Given the description of an element on the screen output the (x, y) to click on. 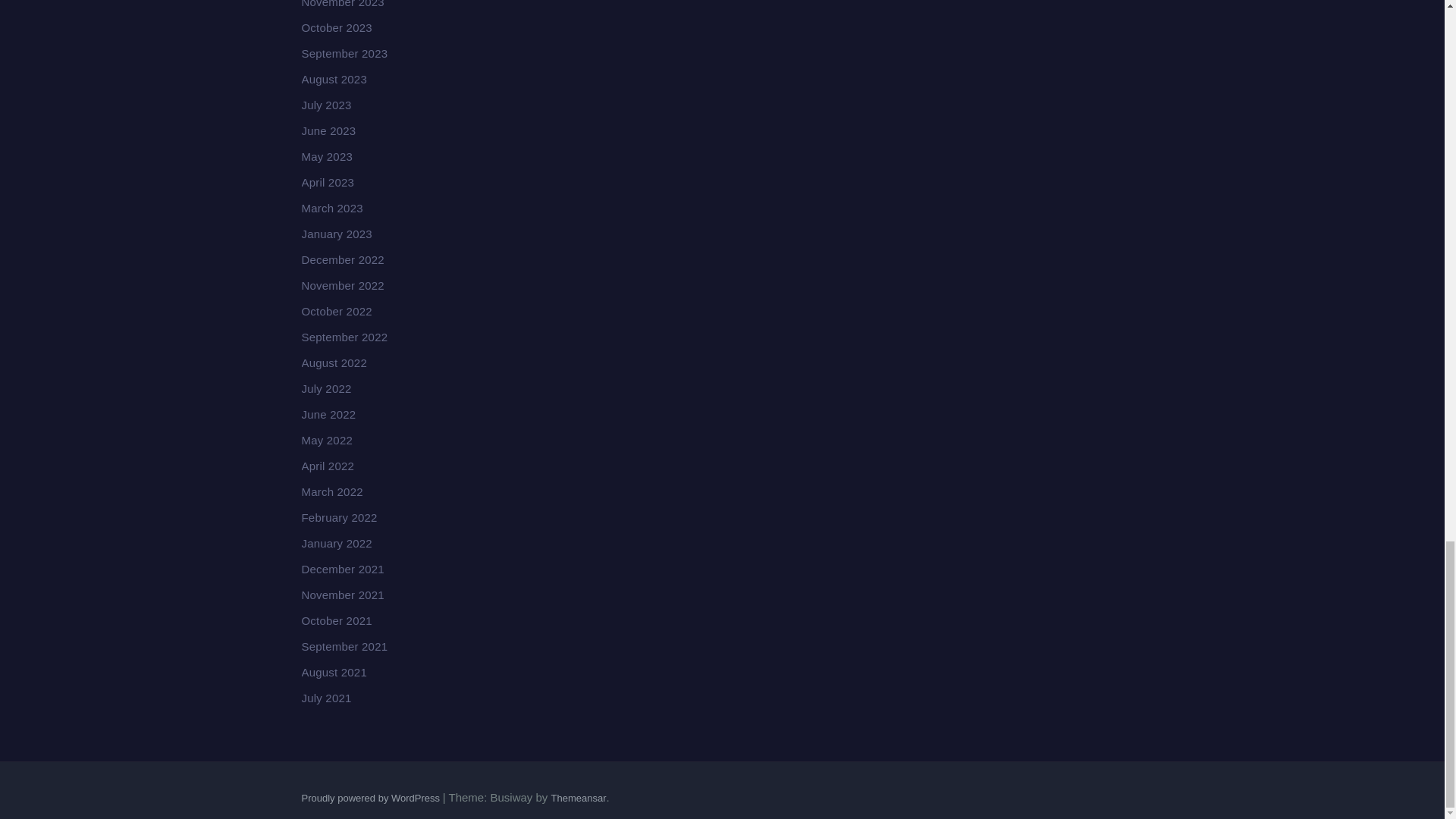
October 2023 (336, 27)
September 2023 (344, 52)
July 2023 (326, 104)
November 2023 (342, 4)
June 2023 (328, 130)
May 2023 (326, 155)
August 2023 (333, 78)
March 2023 (331, 207)
January 2023 (336, 233)
April 2023 (328, 182)
